Given the description of an element on the screen output the (x, y) to click on. 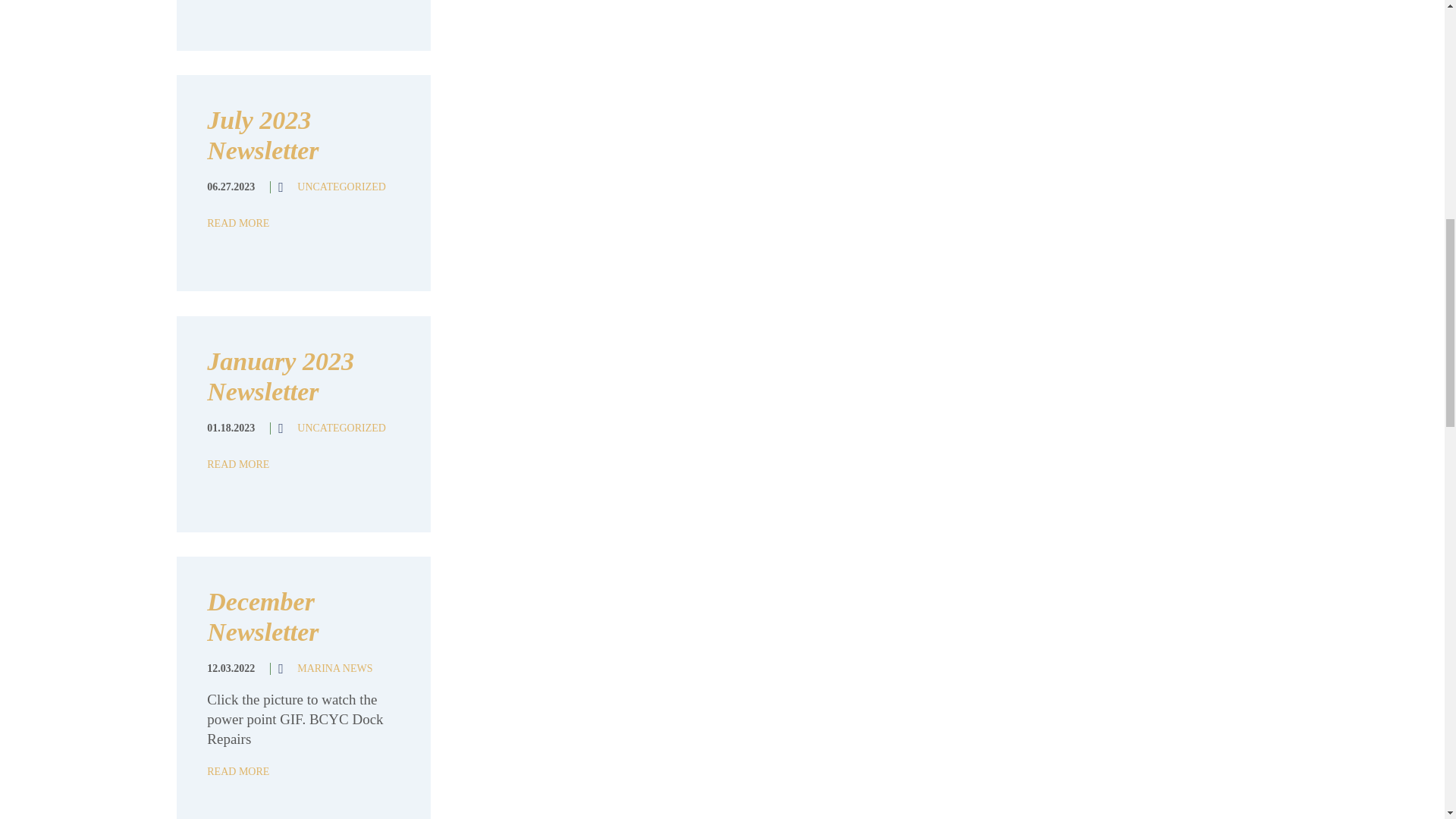
UNCATEGORIZED (341, 186)
December Newsletter (262, 617)
January 2023 Newsletter (279, 376)
READ MORE (237, 771)
UNCATEGORIZED (341, 427)
MARINA NEWS (334, 668)
July 2023 Newsletter (262, 135)
READ MORE (237, 463)
READ MORE (237, 223)
